Given the description of an element on the screen output the (x, y) to click on. 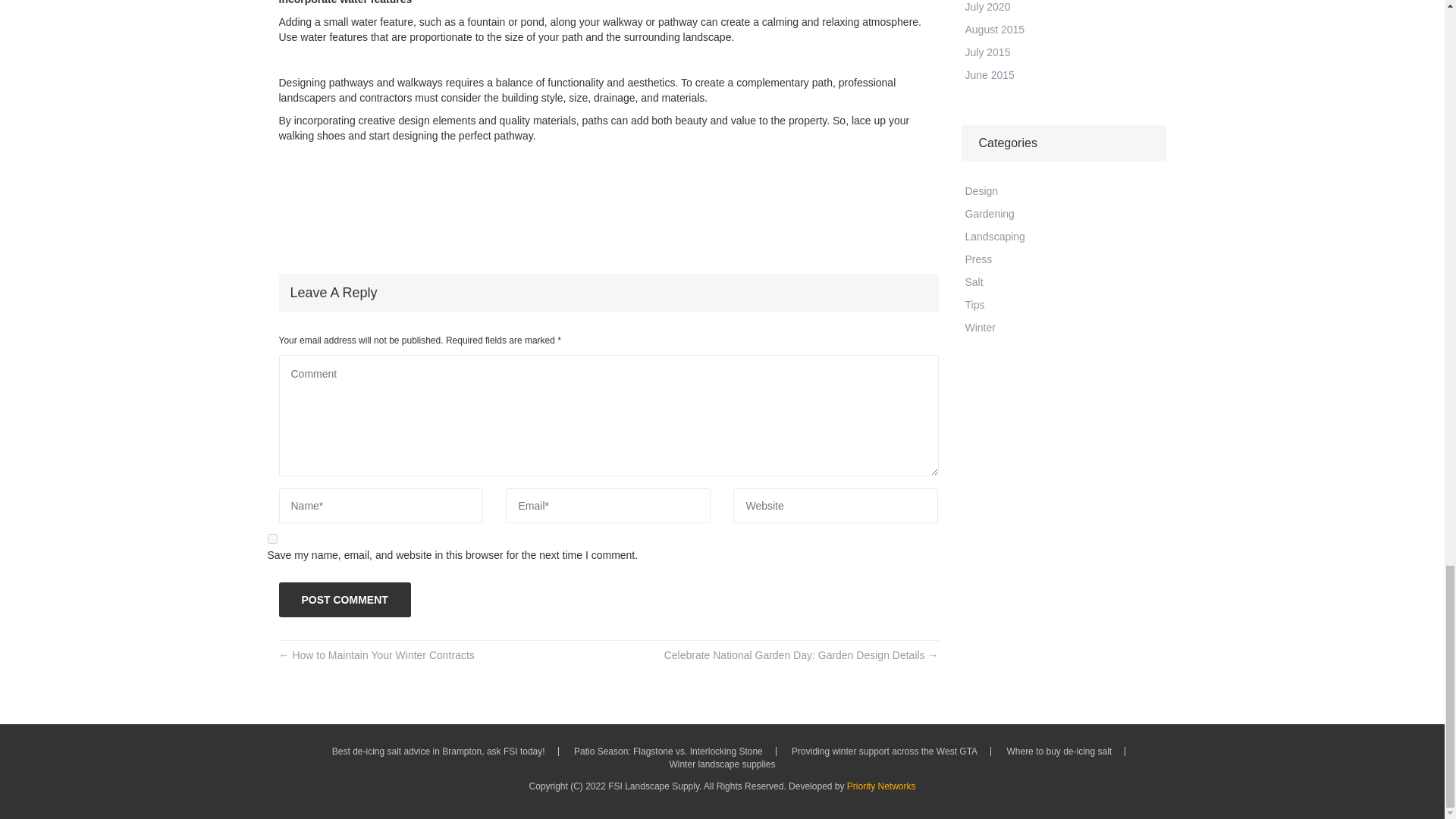
Post Comment (344, 599)
yes (271, 538)
